Given the description of an element on the screen output the (x, y) to click on. 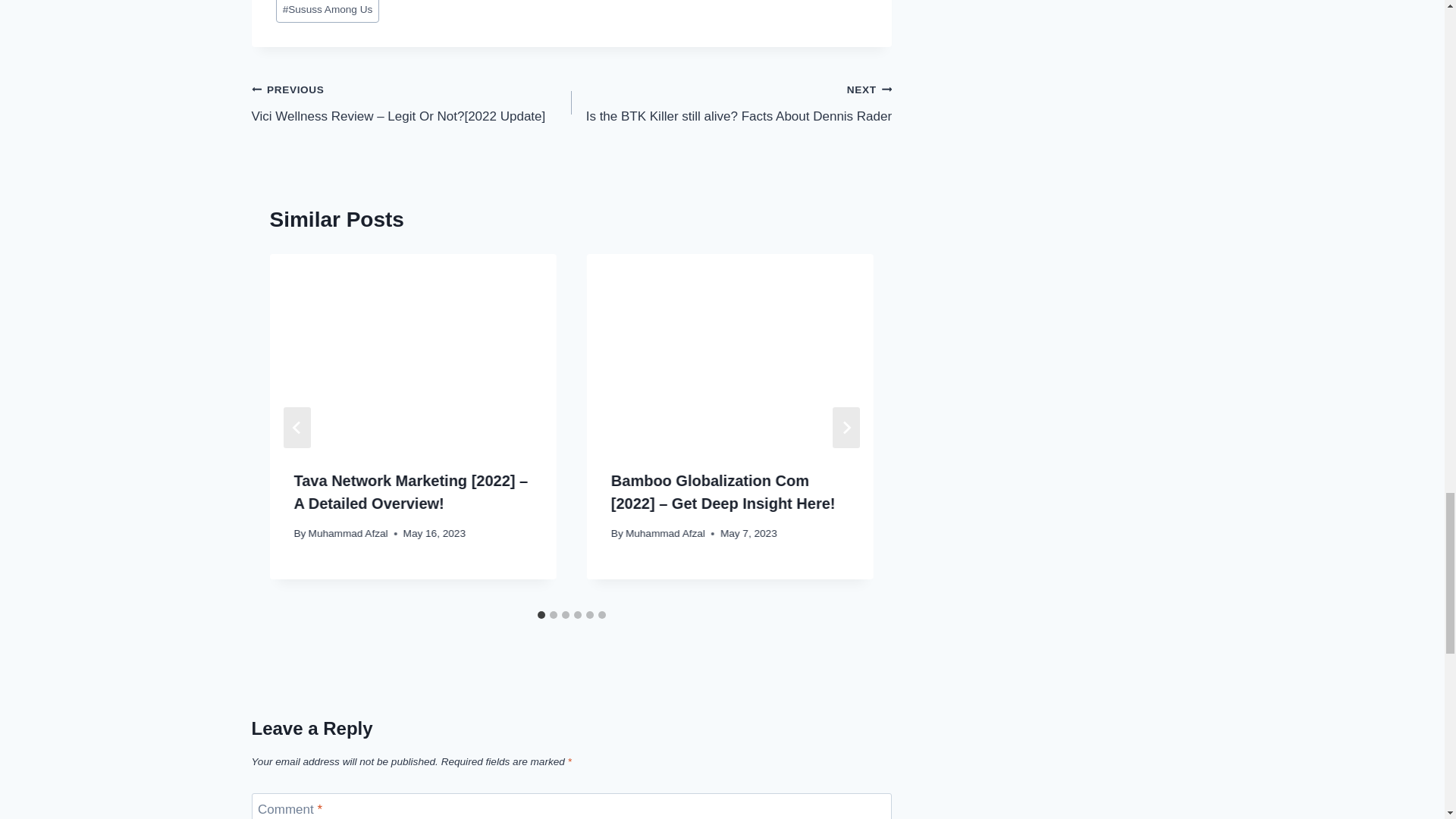
Sususs Among Us (731, 102)
